Given the description of an element on the screen output the (x, y) to click on. 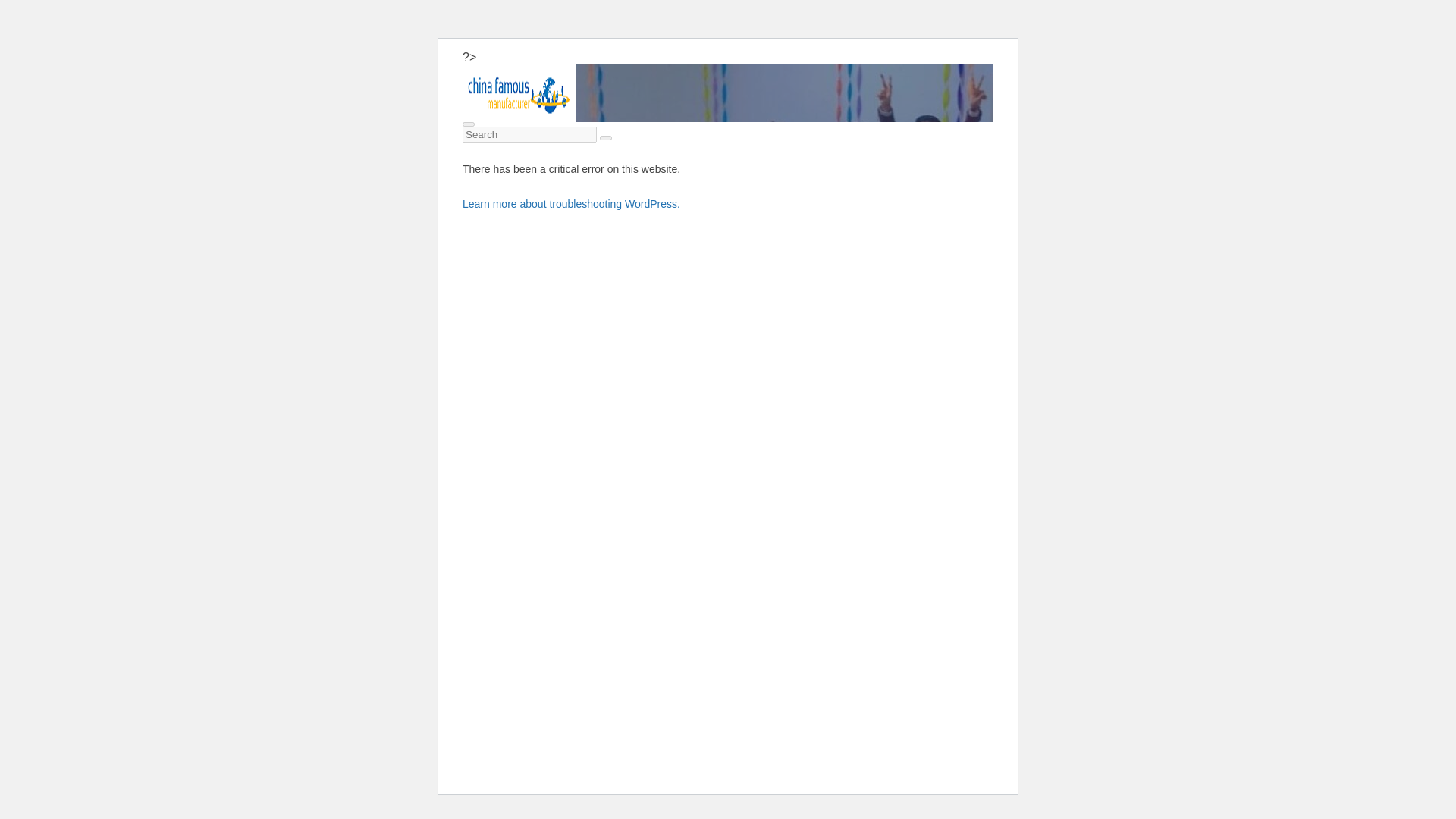
Learn more about troubleshooting WordPress. (571, 203)
